Given the description of an element on the screen output the (x, y) to click on. 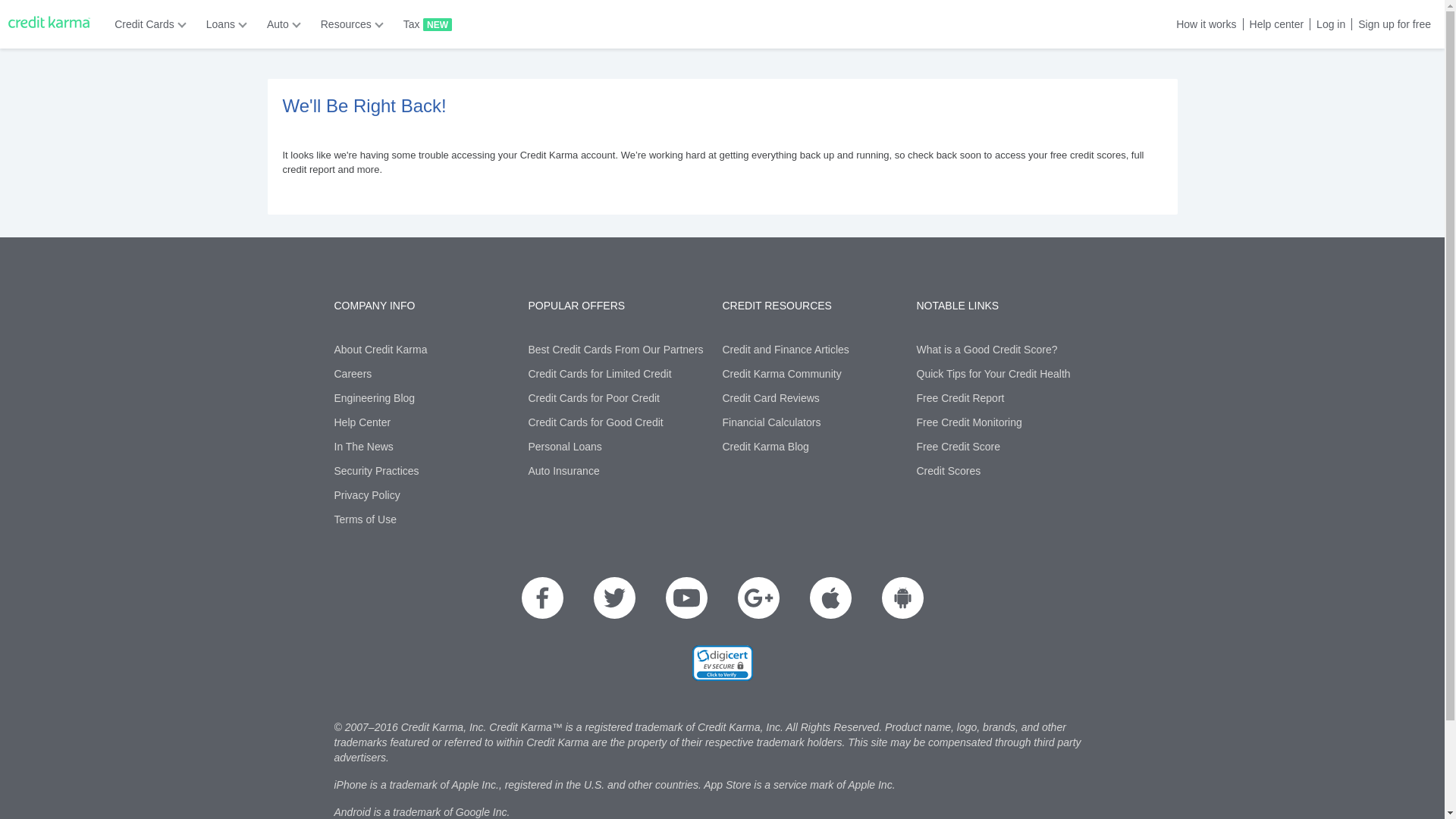
Google Plus (757, 598)
Download Android App (901, 598)
Twitter (613, 598)
Download iOS App (830, 598)
Resources (347, 23)
How it works (1203, 23)
Help center (1273, 23)
Credit Cards (146, 23)
Facebook (542, 598)
YouTube (686, 598)
Log in (1326, 23)
Sign up for free (1391, 23)
